Given the description of an element on the screen output the (x, y) to click on. 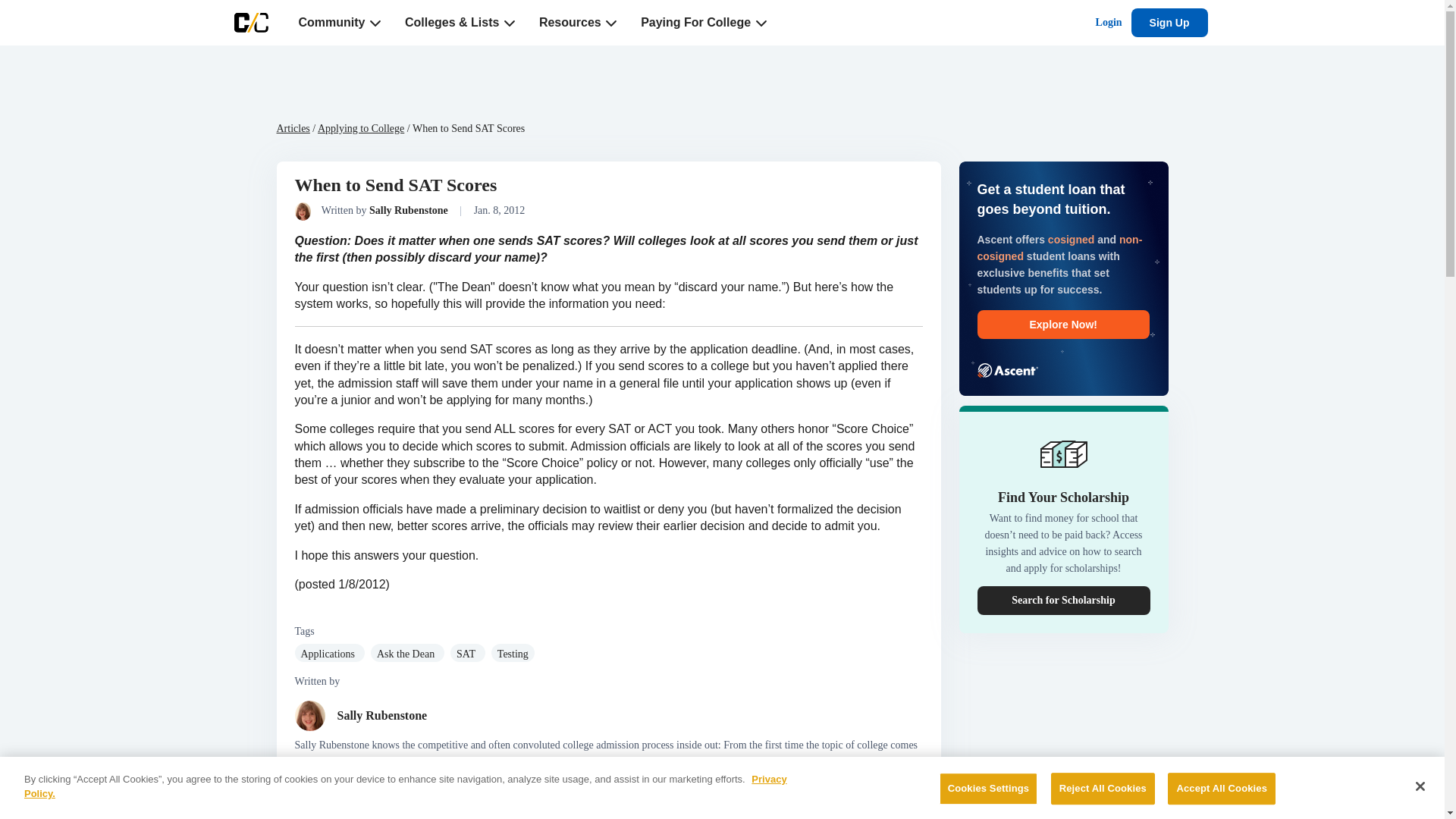
7C6B5DA8-C847-426B-8DA5-B5EA3616E8C5 (374, 23)
Resources 7C6B5DA8-C847-426B-8DA5-B5EA3616E8C5 (577, 22)
Articles (292, 128)
7C6B5DA8-C847-426B-8DA5-B5EA3616E8C5 (509, 23)
Login (1109, 22)
7C6B5DA8-C847-426B-8DA5-B5EA3616E8C5 (760, 23)
Log in (1109, 22)
Sign Up (1169, 22)
7C6B5DA8-C847-426B-8DA5-B5EA3616E8C5 (610, 23)
Community 7C6B5DA8-C847-426B-8DA5-B5EA3616E8C5 (339, 22)
